Given the description of an element on the screen output the (x, y) to click on. 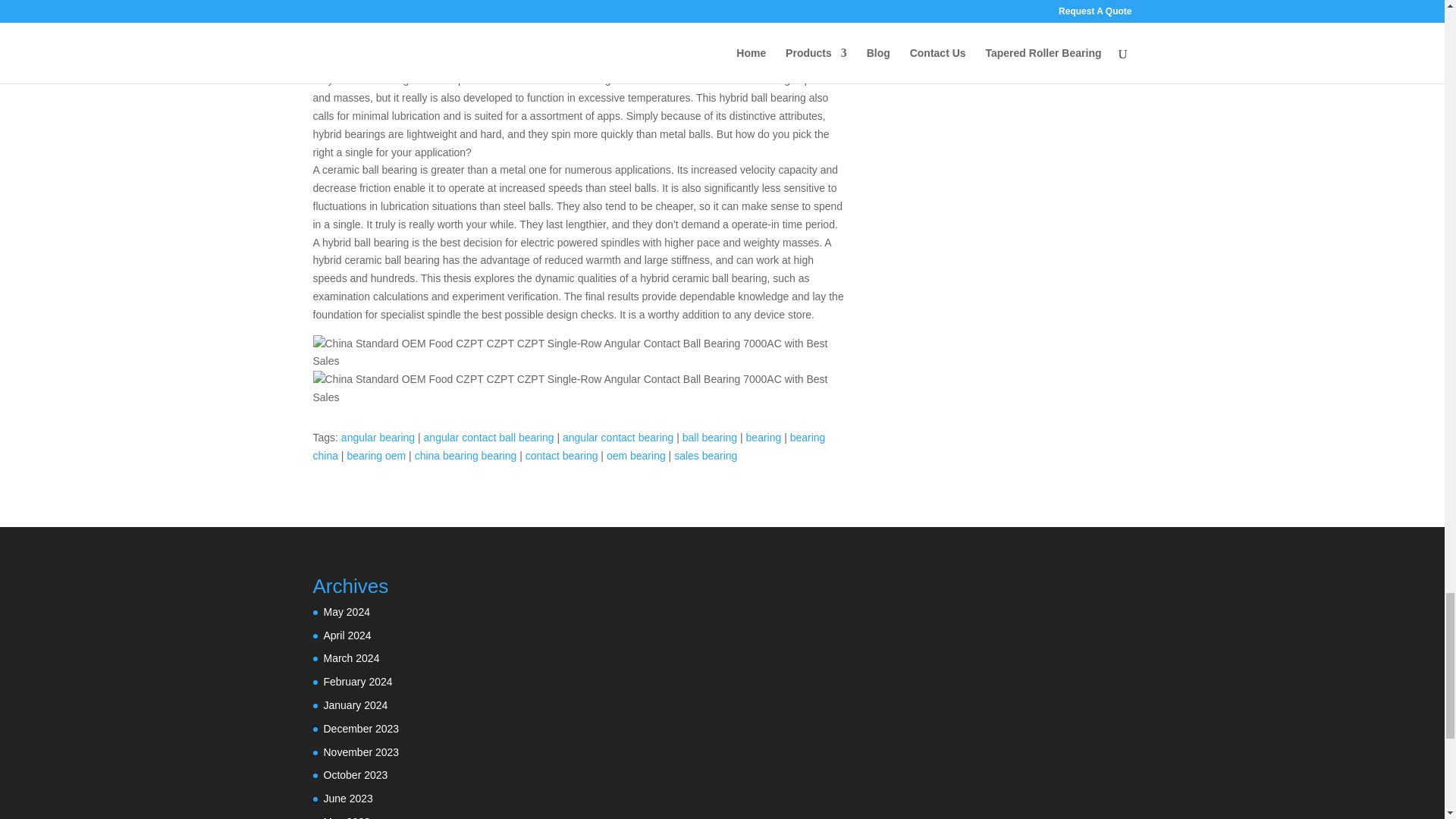
china bearing bearing (465, 455)
angular contact bearing (617, 437)
ball bearing (709, 437)
bearing (763, 437)
contact bearing (561, 455)
bearing china (569, 446)
sales bearing (705, 455)
oem bearing (636, 455)
angular bearing (377, 437)
bearing oem (376, 455)
